Given the description of an element on the screen output the (x, y) to click on. 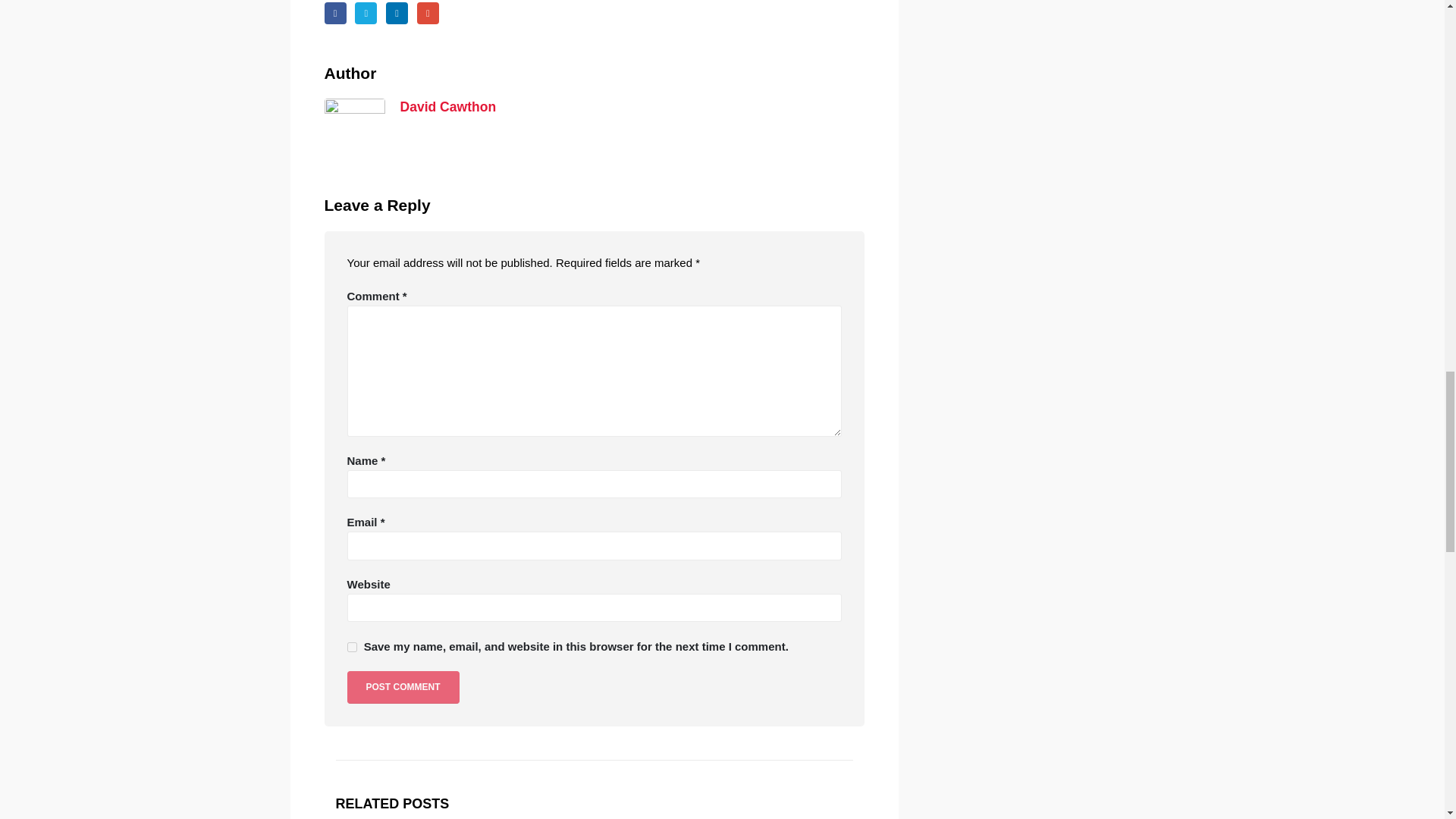
yes (351, 646)
Post Comment (403, 686)
